Given the description of an element on the screen output the (x, y) to click on. 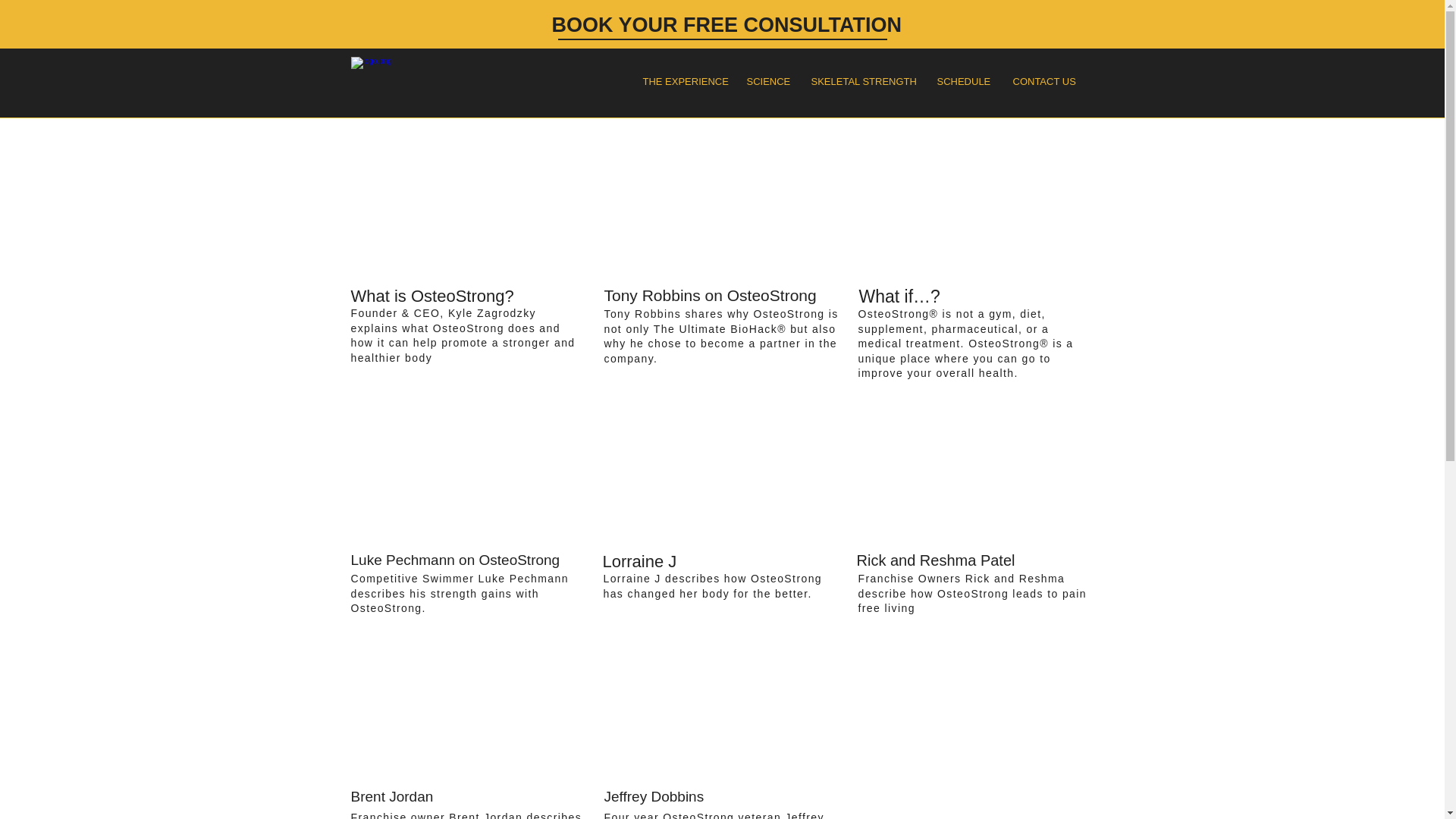
SCIENCE (767, 81)
THE EXPERIENCE (682, 81)
CONTACT US (1043, 81)
SKELETAL STRENGTH (861, 81)
BOOK YOUR FREE CONSULTATION (726, 25)
SCHEDULE (962, 81)
